Given the description of an element on the screen output the (x, y) to click on. 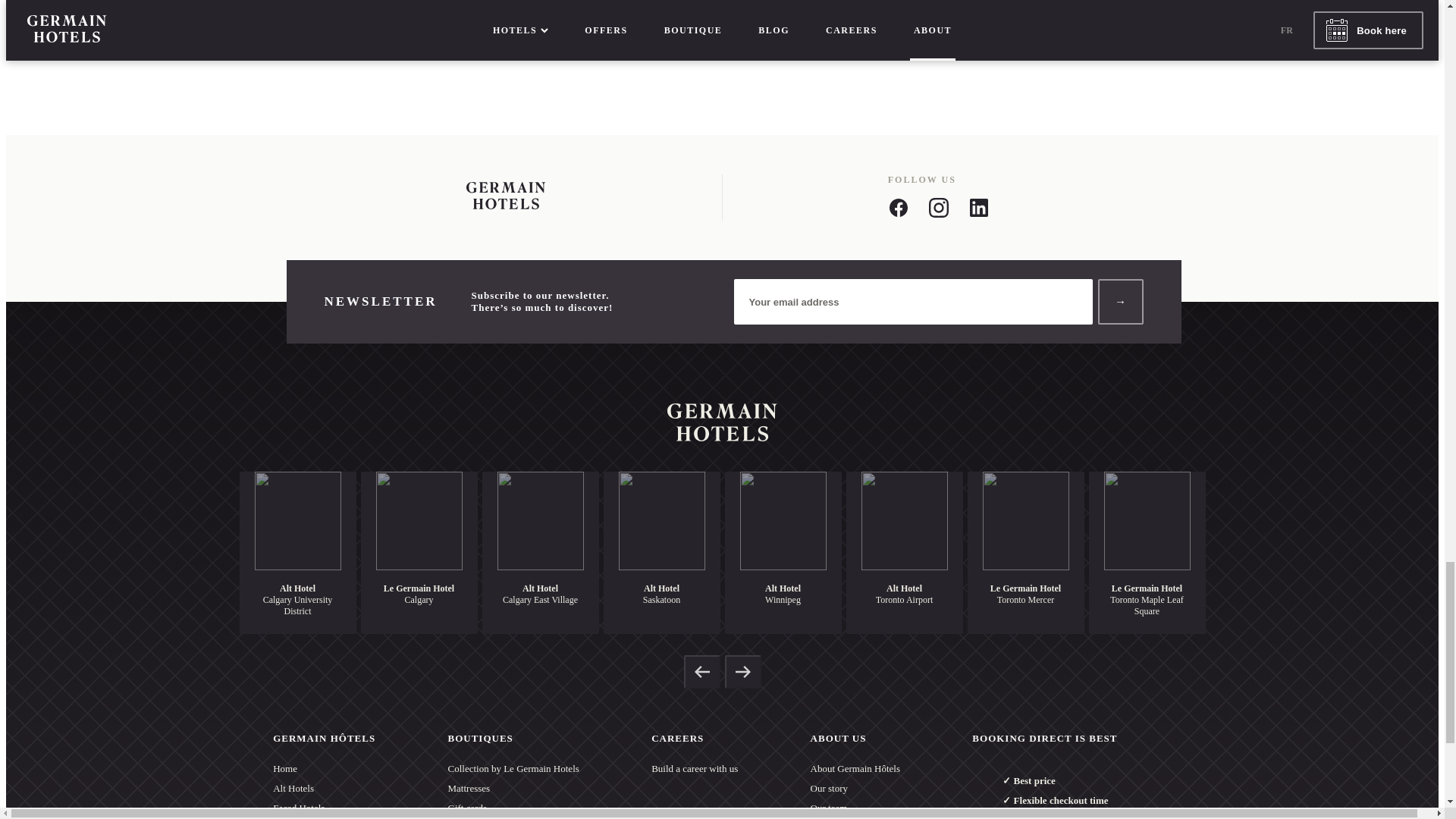
Gift cards (513, 808)
Please contact our team (721, 8)
Collection by Le Germain Hotels (513, 768)
Escad Hotels (324, 808)
Home (324, 768)
Our team (854, 808)
Build a career with us (694, 768)
Our story (854, 788)
Mattresses (513, 788)
Alt Hotels (324, 788)
